Given the description of an element on the screen output the (x, y) to click on. 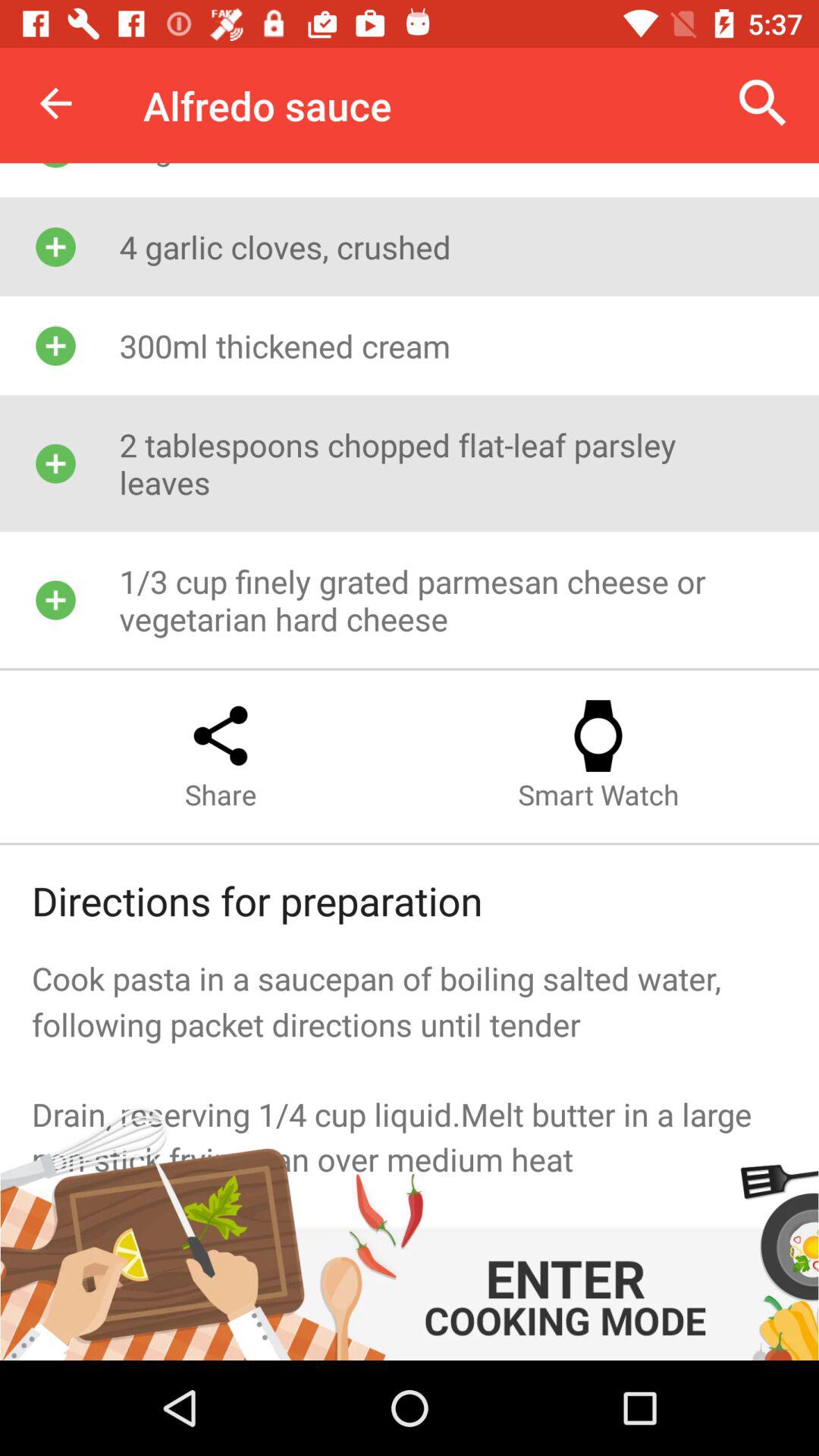
press item to the right of the alfredo sauce (763, 103)
